Given the description of an element on the screen output the (x, y) to click on. 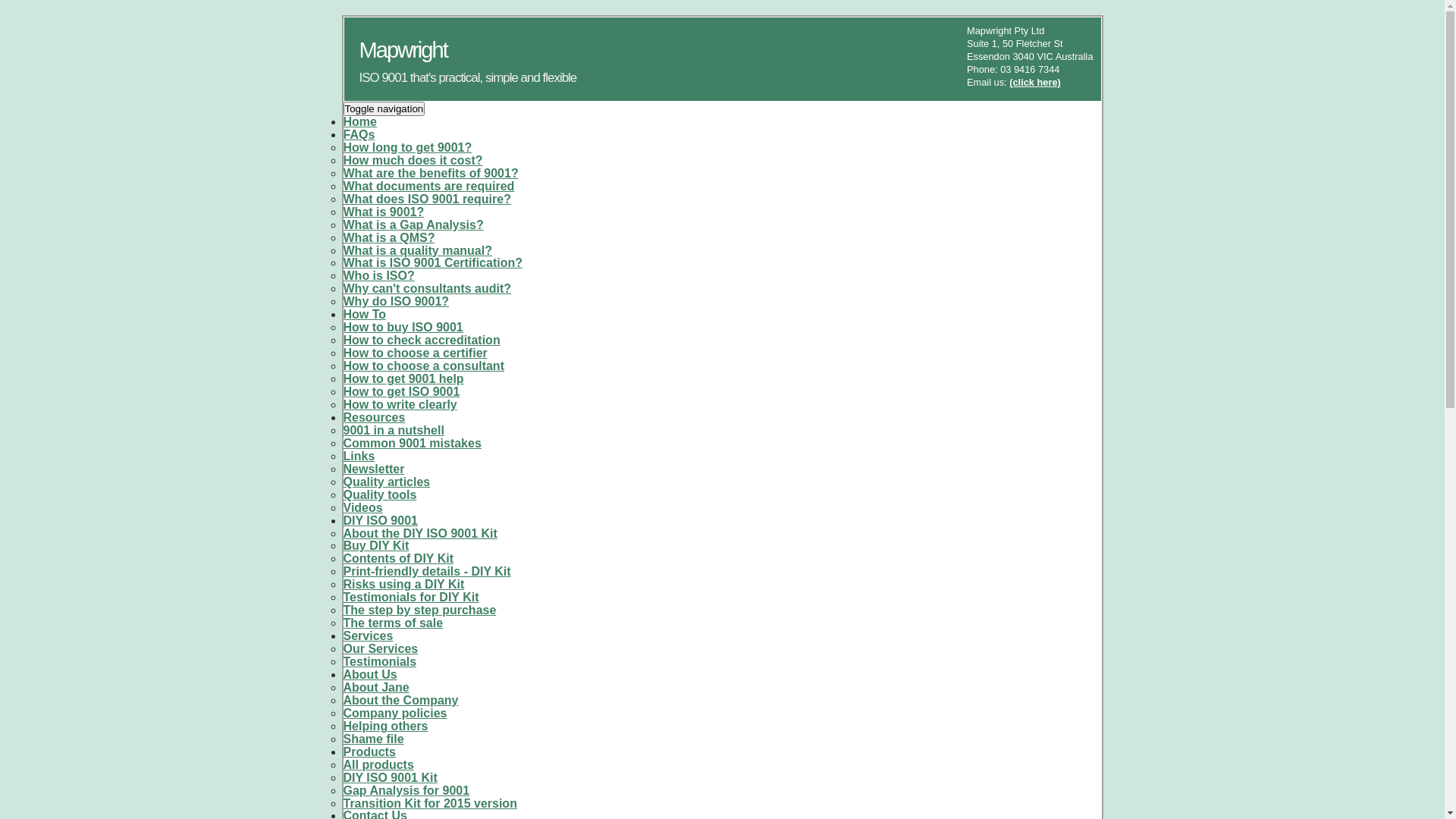
How to buy ISO 9001 Element type: text (402, 326)
Products Element type: text (368, 751)
DIY ISO 9001 Kit Element type: text (389, 777)
Shame file Element type: text (372, 738)
Newsletter Element type: text (373, 468)
Links Element type: text (358, 455)
Transition Kit for 2015 version Element type: text (429, 803)
Print-friendly details - DIY Kit Element type: text (426, 570)
Why do ISO 9001? Element type: text (395, 300)
How to write clearly Element type: text (399, 404)
What are the benefits of 9001? Element type: text (429, 172)
About the Company Element type: text (400, 699)
Gap Analysis for 9001 Element type: text (405, 790)
Why can't consultants audit? Element type: text (426, 288)
Common 9001 mistakes Element type: text (411, 442)
What documents are required Element type: text (428, 185)
How to get ISO 9001 Element type: text (400, 391)
About the DIY ISO 9001 Kit Element type: text (419, 532)
What is 9001? Element type: text (382, 211)
The terms of sale Element type: text (392, 622)
How To Element type: text (363, 313)
Home Element type: text (359, 121)
How to choose a consultant Element type: text (422, 365)
About Us Element type: text (369, 674)
How much does it cost? Element type: text (412, 159)
Quality tools Element type: text (379, 494)
Resources Element type: text (373, 417)
The step by step purchase Element type: text (418, 609)
Services Element type: text (367, 635)
What is a QMS? Element type: text (388, 237)
Toggle navigation Element type: text (383, 108)
About Jane Element type: text (375, 686)
FAQs Element type: text (358, 134)
DIY ISO 9001 Element type: text (379, 520)
Testimonials Element type: text (379, 661)
Who is ISO? Element type: text (378, 275)
What does ISO 9001 require? Element type: text (426, 198)
How to choose a certifier Element type: text (414, 352)
What is a quality manual? Element type: text (416, 250)
9001 in a nutshell Element type: text (392, 429)
Videos Element type: text (362, 507)
What is a Gap Analysis? Element type: text (412, 224)
(click here) Element type: text (1034, 81)
How long to get 9001? Element type: text (406, 147)
Risks using a DIY Kit Element type: text (403, 583)
All products Element type: text (377, 764)
What is ISO 9001 Certification? Element type: text (432, 262)
Contents of DIY Kit Element type: text (397, 558)
How to get 9001 help Element type: text (402, 378)
Quality articles Element type: text (385, 481)
Testimonials for DIY Kit Element type: text (410, 596)
Company policies Element type: text (394, 712)
Helping others Element type: text (384, 725)
Our Services Element type: text (379, 648)
Buy DIY Kit Element type: text (375, 545)
How to check accreditation Element type: text (420, 339)
